Given the description of an element on the screen output the (x, y) to click on. 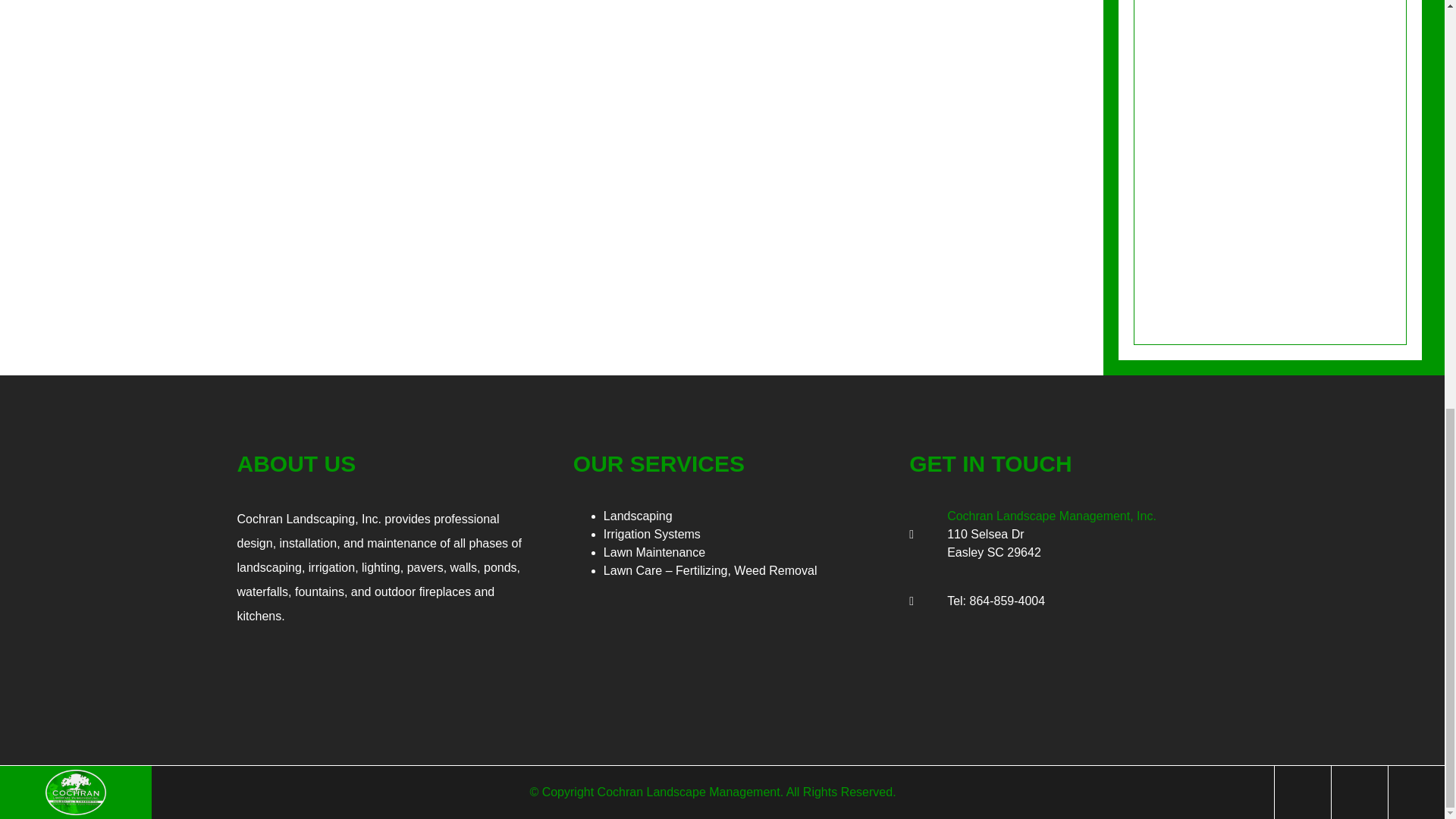
864-859-4004 (1007, 600)
